Given the description of an element on the screen output the (x, y) to click on. 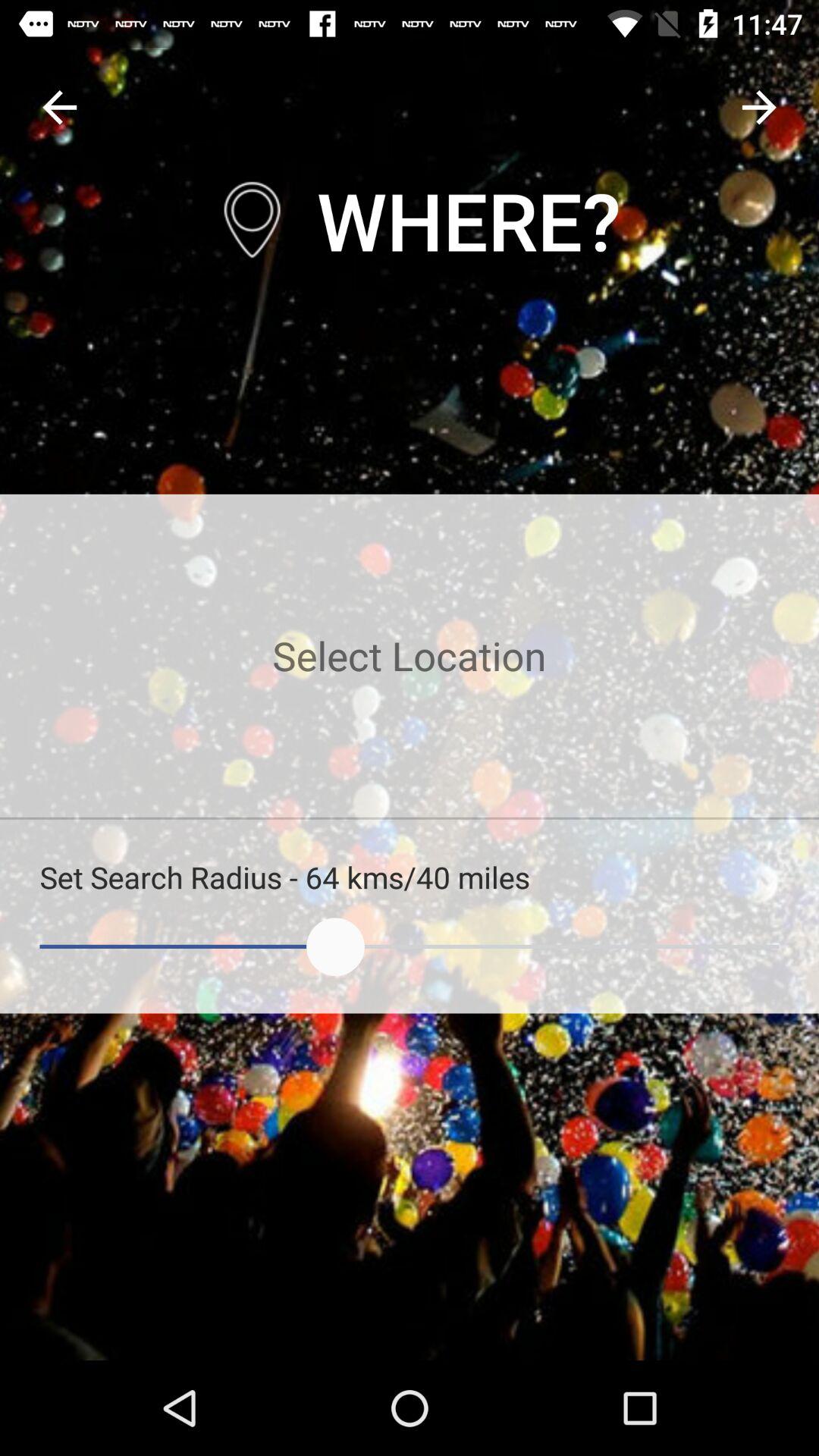
go back (59, 107)
